Given the description of an element on the screen output the (x, y) to click on. 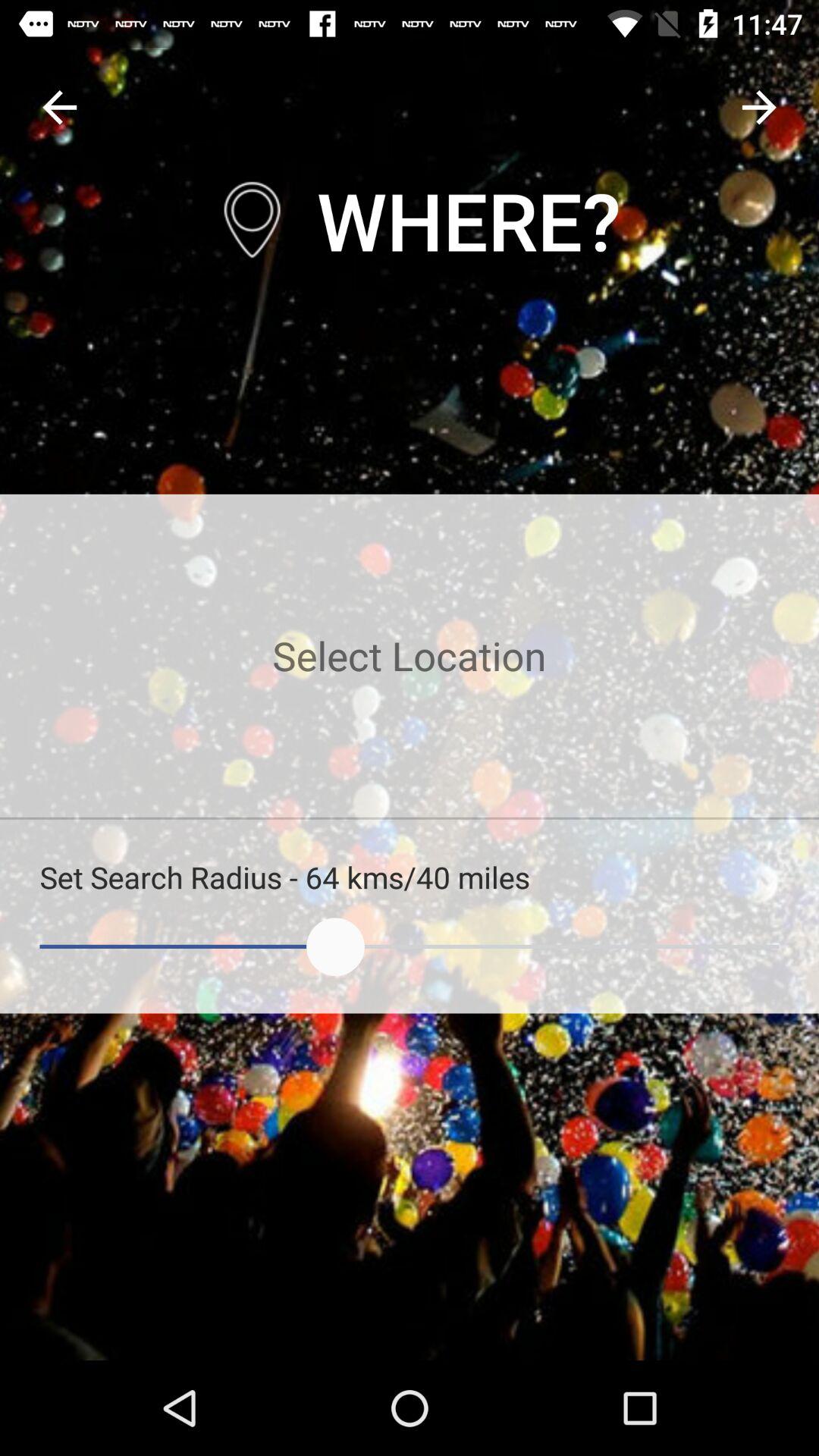
go back (59, 107)
